Given the description of an element on the screen output the (x, y) to click on. 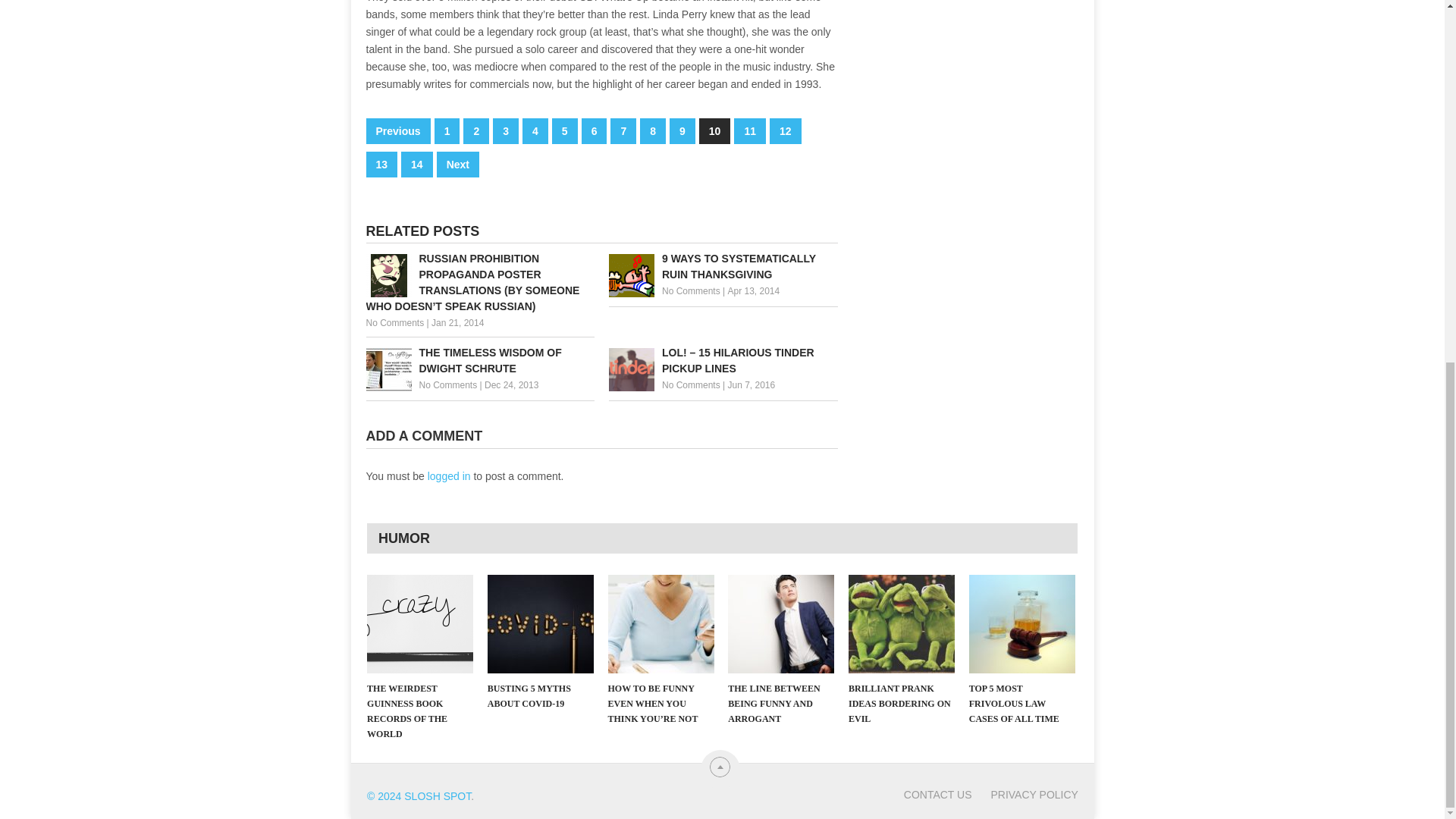
The Timeless Wisdom of Dwight Schrute (479, 360)
THE TIMELESS WISDOM OF DWIGHT SCHRUTE (479, 360)
12 (786, 130)
No Comments (394, 322)
9 (682, 130)
4 (535, 130)
logged in (449, 476)
No Comments (448, 385)
No Comments (691, 385)
2 (476, 130)
